Given the description of an element on the screen output the (x, y) to click on. 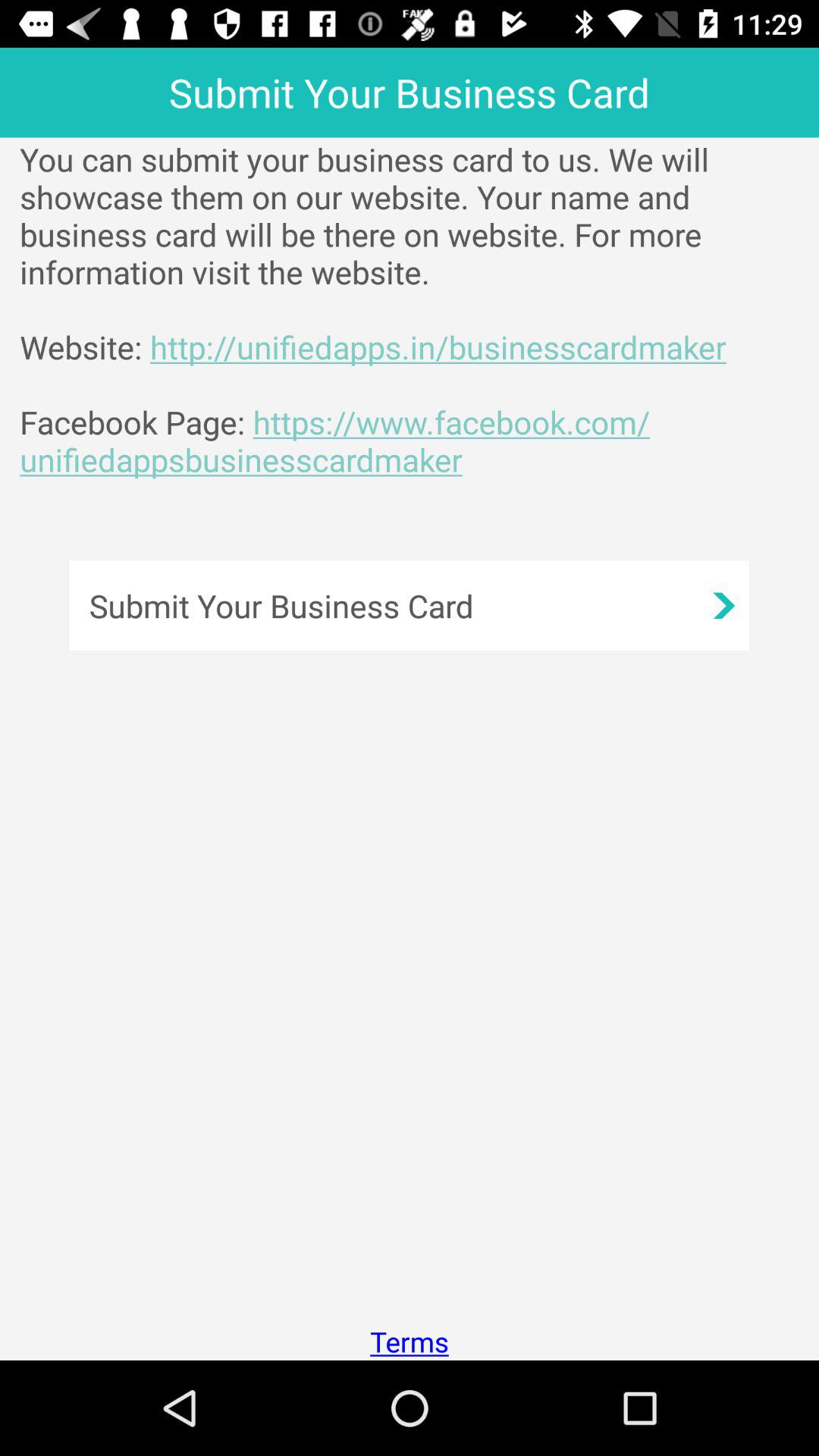
press the app below the submit your business app (409, 1341)
